Given the description of an element on the screen output the (x, y) to click on. 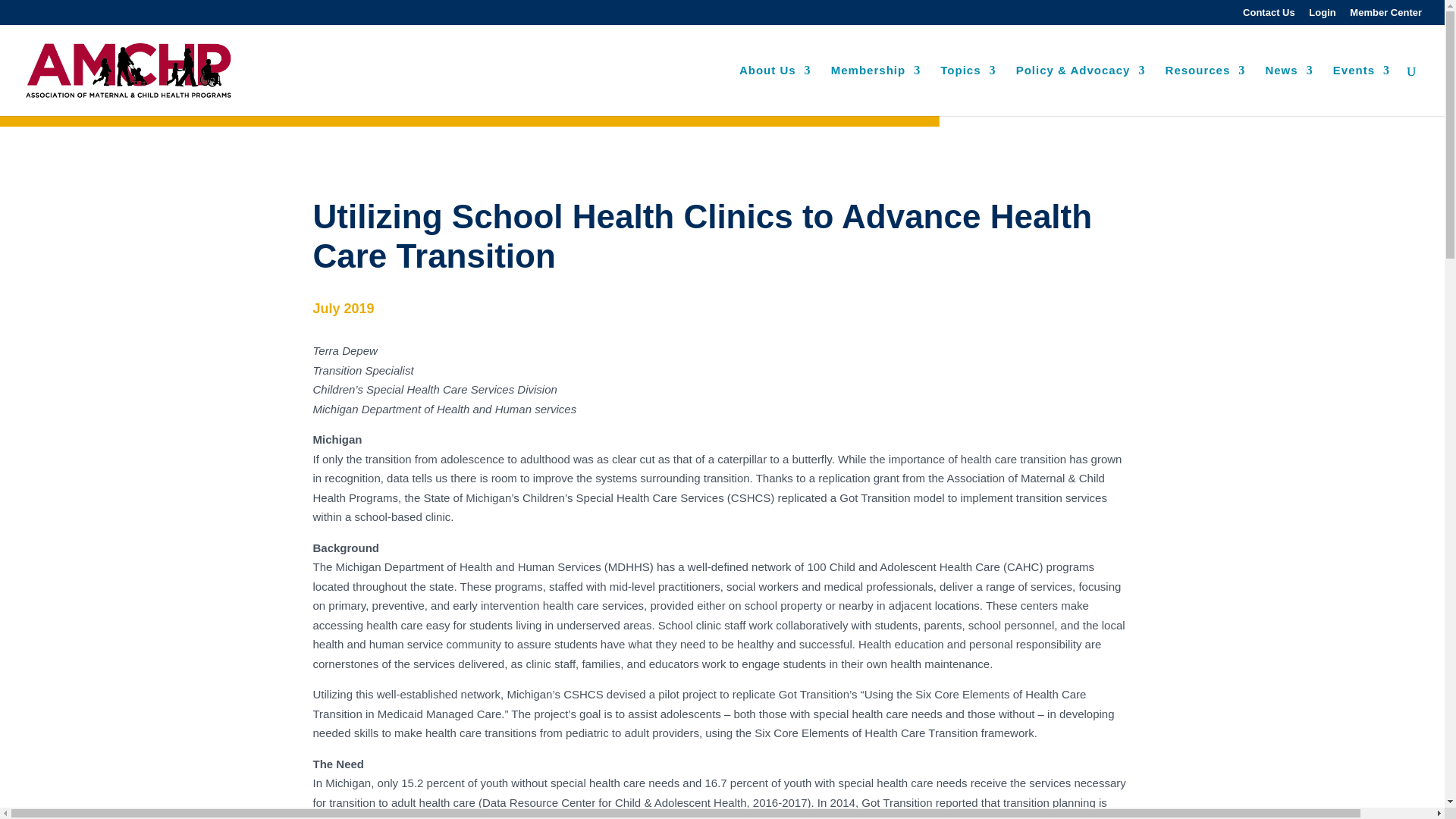
Contact Us (1269, 16)
Membership (875, 90)
About Us (774, 90)
Topics (967, 90)
Member Center (1385, 16)
Login (1321, 16)
